Given the description of an element on the screen output the (x, y) to click on. 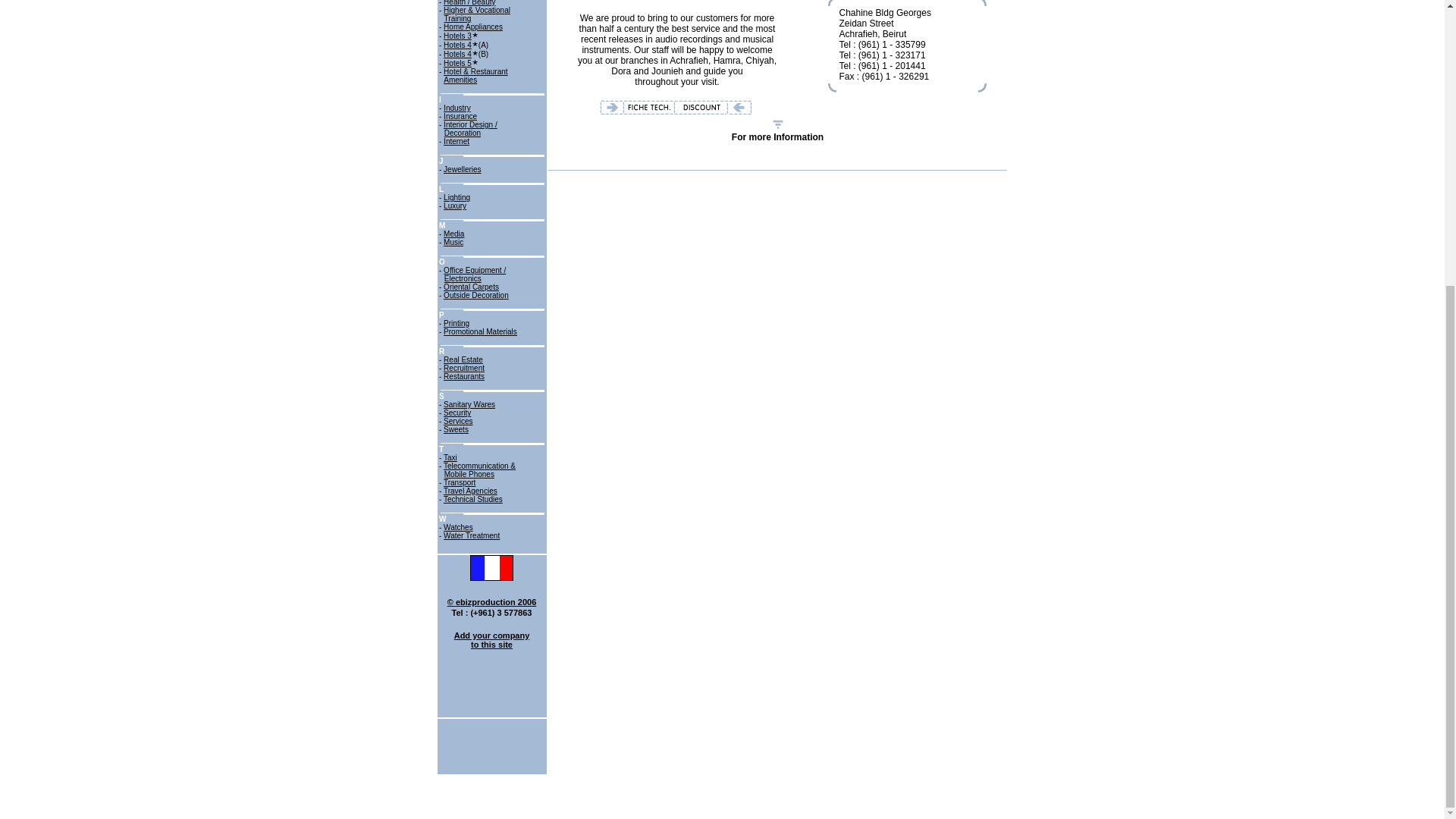
Home Appliances (473, 26)
Industry (457, 108)
Hotels 5 (457, 62)
Training (457, 18)
Hotels 3 (457, 35)
Hotels 4 (457, 44)
Amenities (460, 80)
Hotels 4 (457, 53)
